Given the description of an element on the screen output the (x, y) to click on. 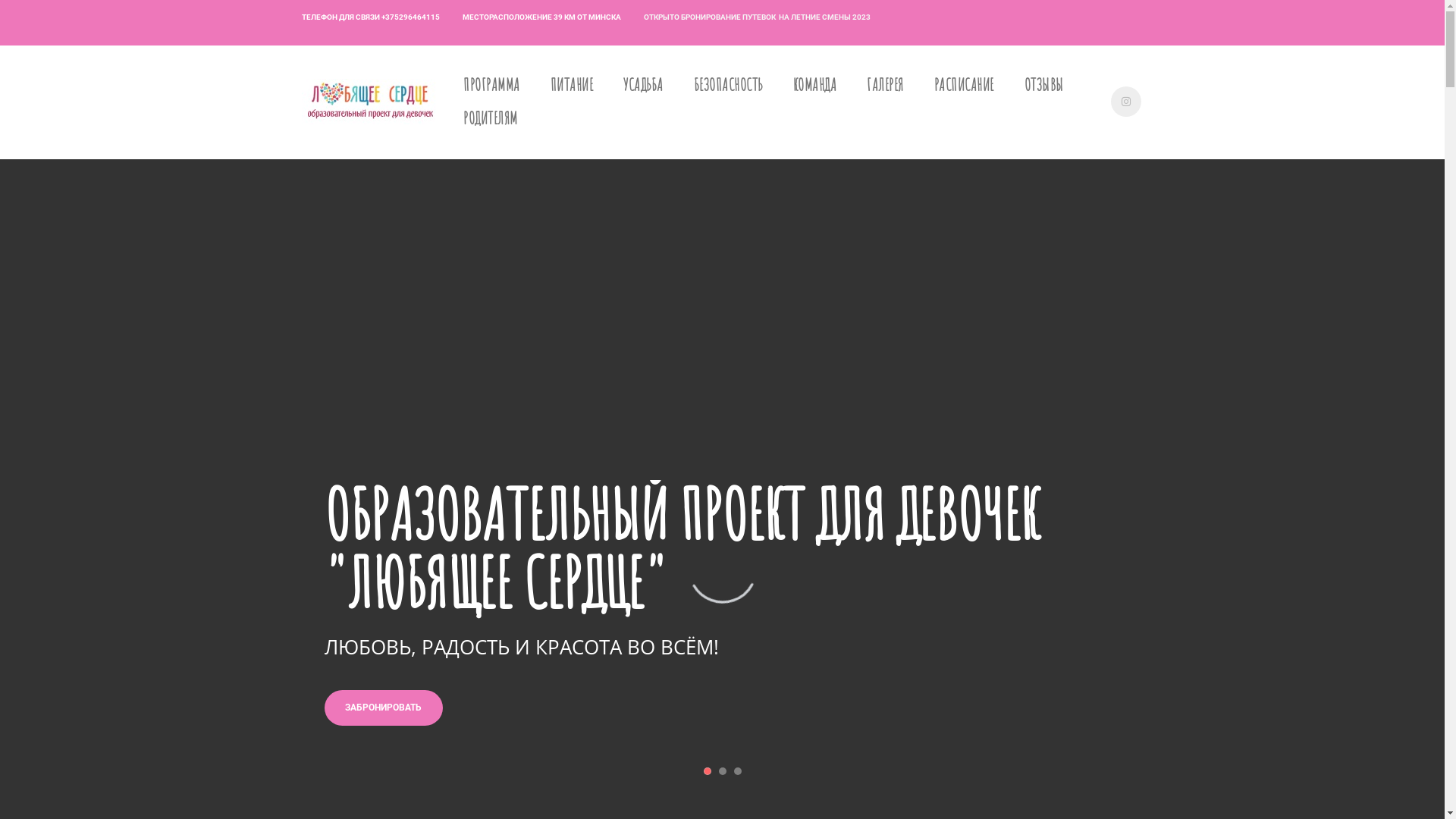
+375296464115 Element type: text (409, 17)
